Given the description of an element on the screen output the (x, y) to click on. 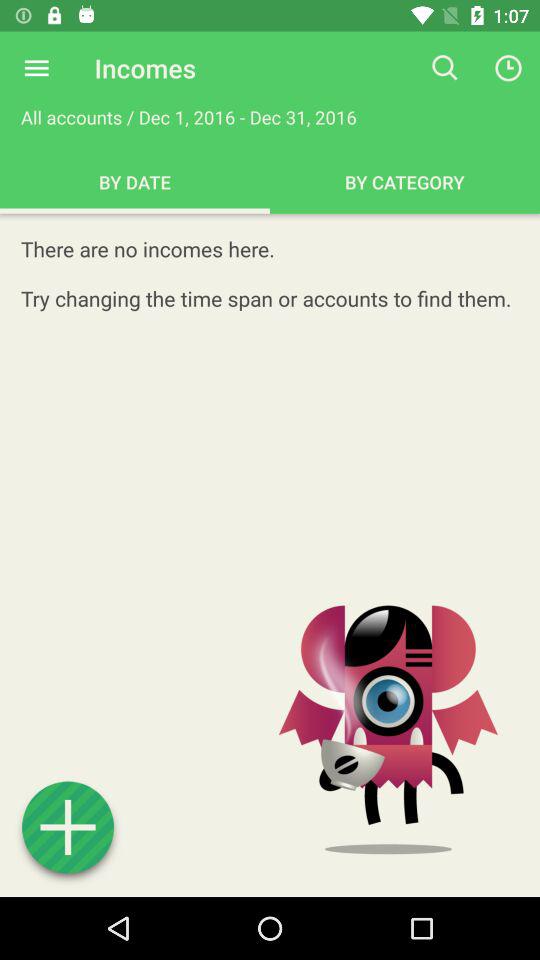
explore menu options (36, 68)
